Given the description of an element on the screen output the (x, y) to click on. 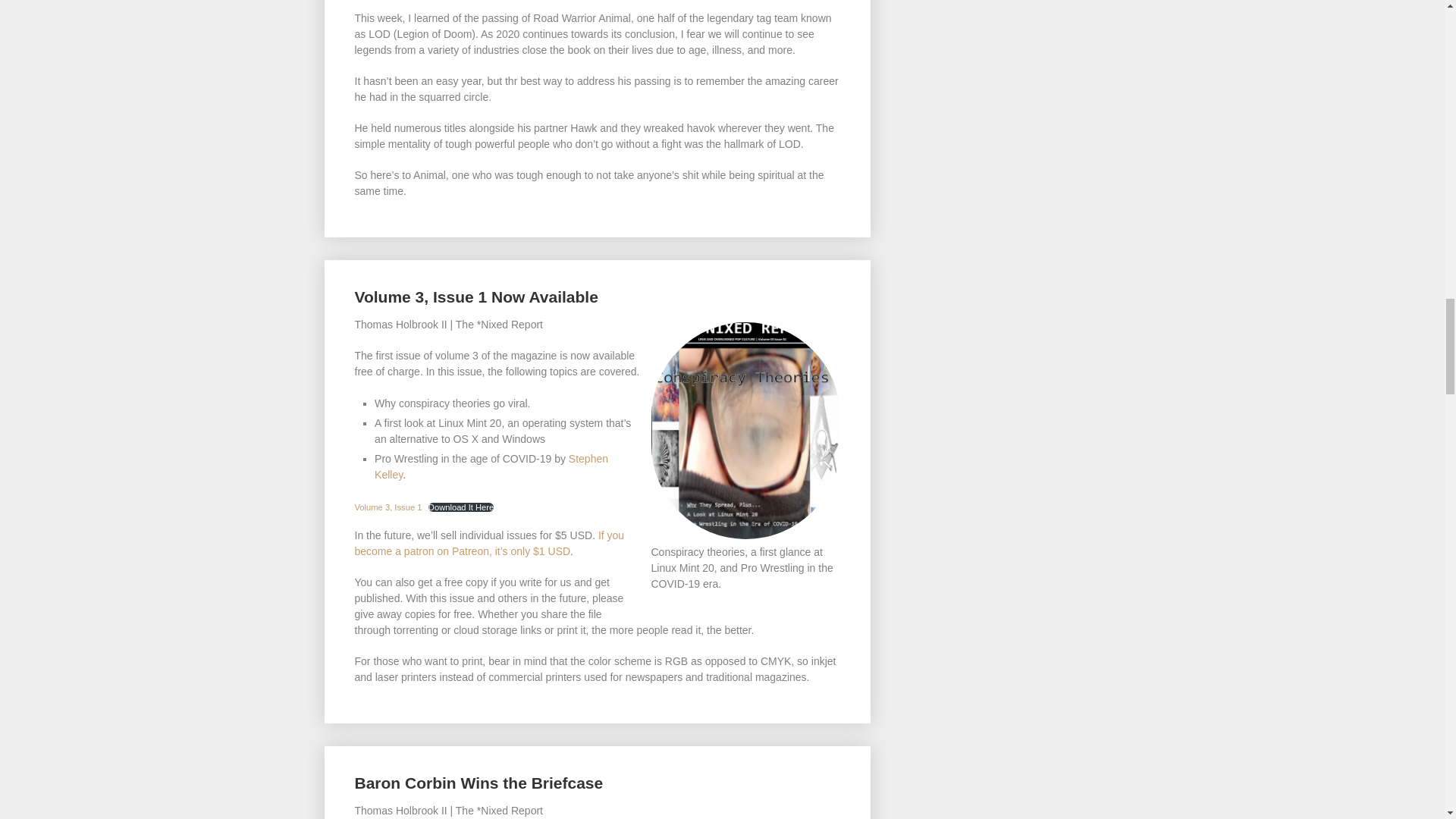
Baron Corbin Wins the Briefcase (479, 782)
Volume 3, Issue 1 (388, 506)
Volume 3, Issue 1 Now Available (476, 296)
Download It Here (460, 506)
Volume 3, Issue 1 Now Available (476, 296)
Baron Corbin Wins the Briefcase (479, 782)
Stephen Kelley (491, 466)
